Given the description of an element on the screen output the (x, y) to click on. 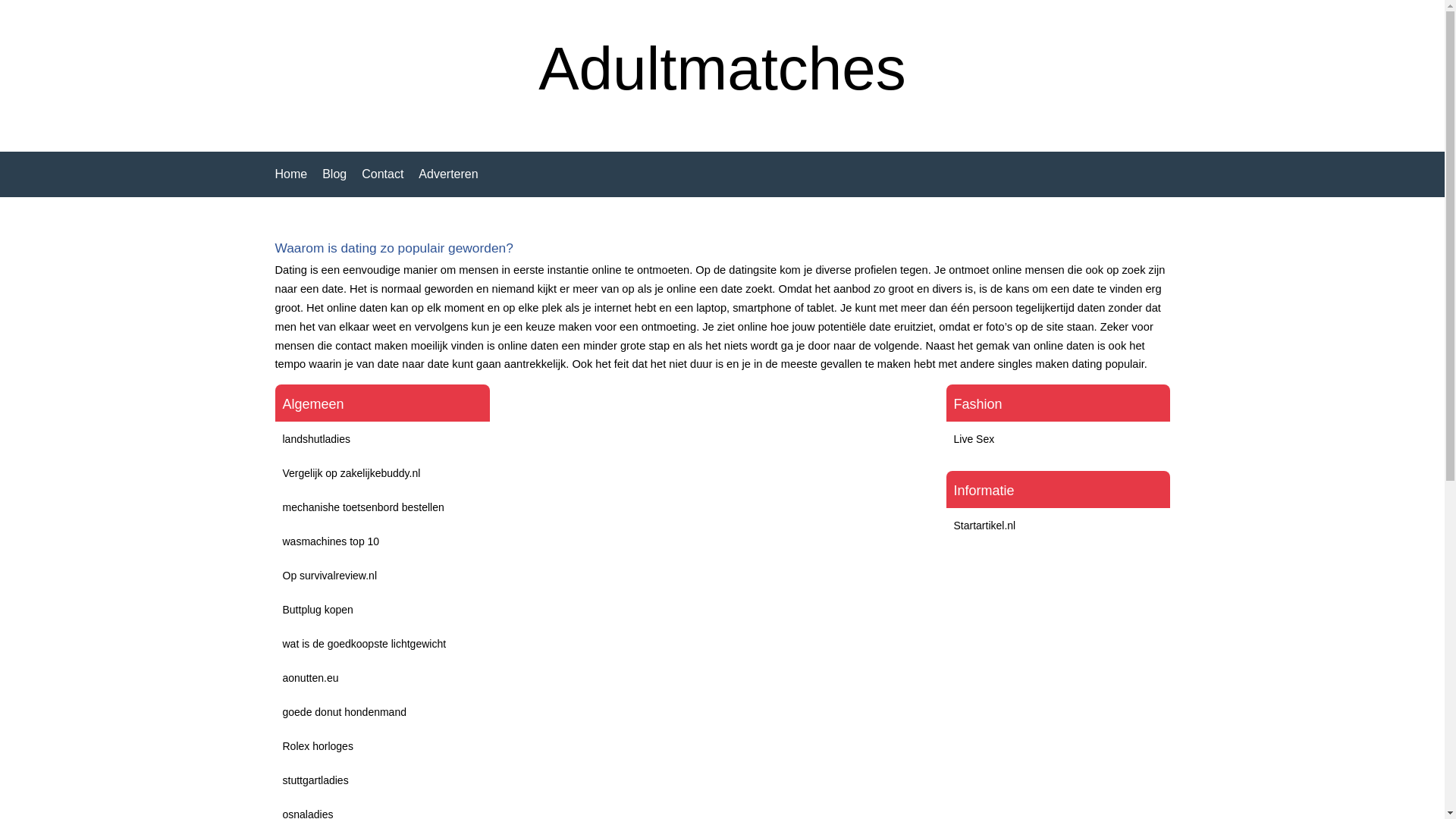
Buttplug kopen Element type: text (317, 609)
Adverteren Element type: text (448, 174)
Rolex horloges Element type: text (317, 746)
wasmachines top 10 Element type: text (330, 541)
goede donut hondenmand Element type: text (343, 712)
Startartikel.nl Element type: text (984, 525)
Adultmatches Element type: text (722, 68)
stuttgartladies Element type: text (315, 780)
Blog Element type: text (334, 174)
wat is de goedkoopste lichtgewicht Element type: text (363, 643)
mechanishe toetsenbord bestellen Element type: text (362, 507)
Vergelijk op zakelijkebuddy.nl Element type: text (351, 473)
Op survivalreview.nl Element type: text (329, 575)
Live Sex Element type: text (973, 439)
aonutten.eu Element type: text (310, 677)
landshutladies Element type: text (316, 439)
Contact Element type: text (382, 174)
Home Element type: text (290, 174)
